Given the description of an element on the screen output the (x, y) to click on. 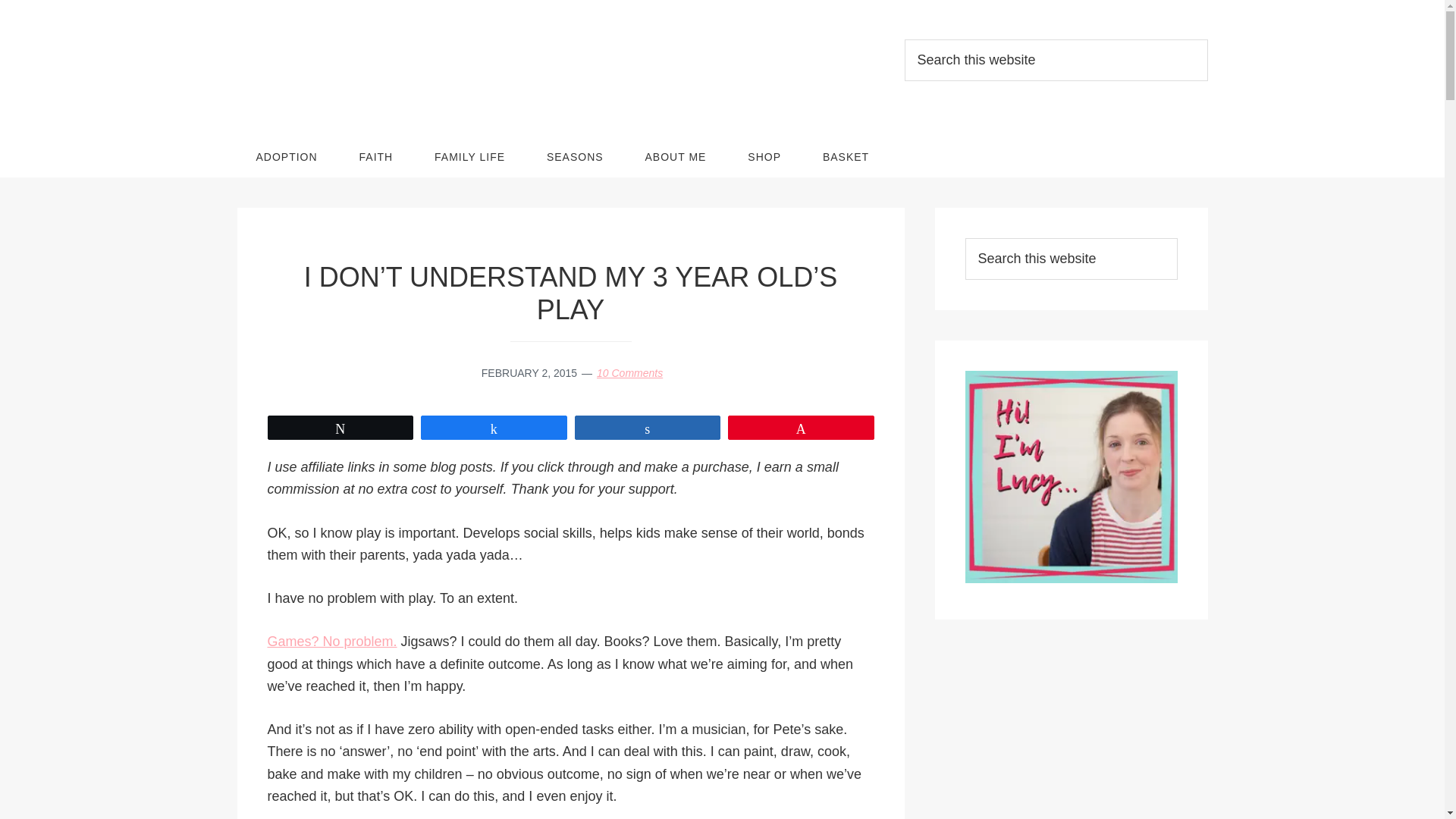
FAMILY LIFE (469, 156)
FAITH (376, 156)
SEASONS (575, 156)
10 Comments (629, 372)
ABOUT ME (675, 156)
SHOP (764, 156)
